Given the description of an element on the screen output the (x, y) to click on. 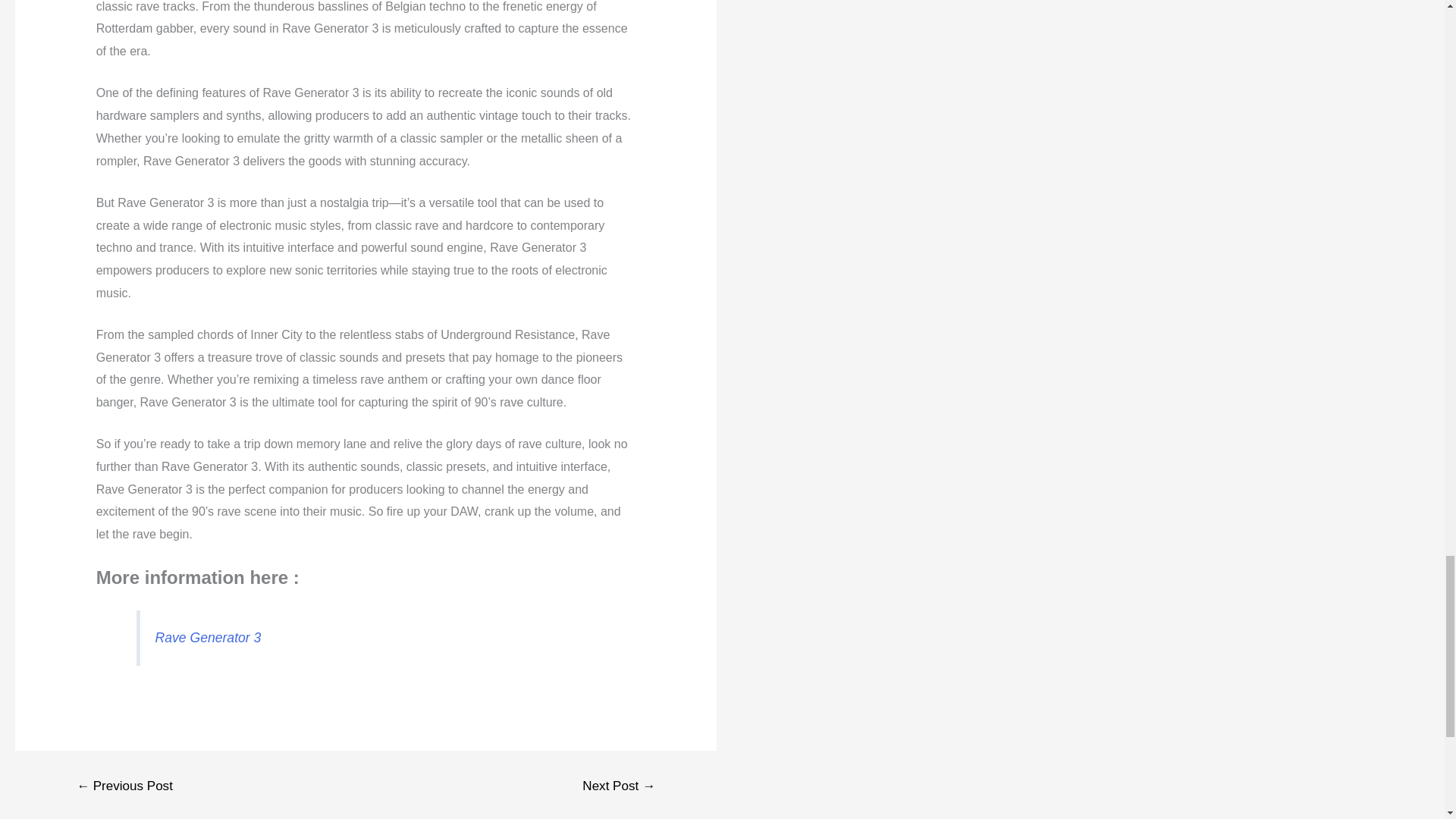
Rave Generator 3 (208, 637)
